Given the description of an element on the screen output the (x, y) to click on. 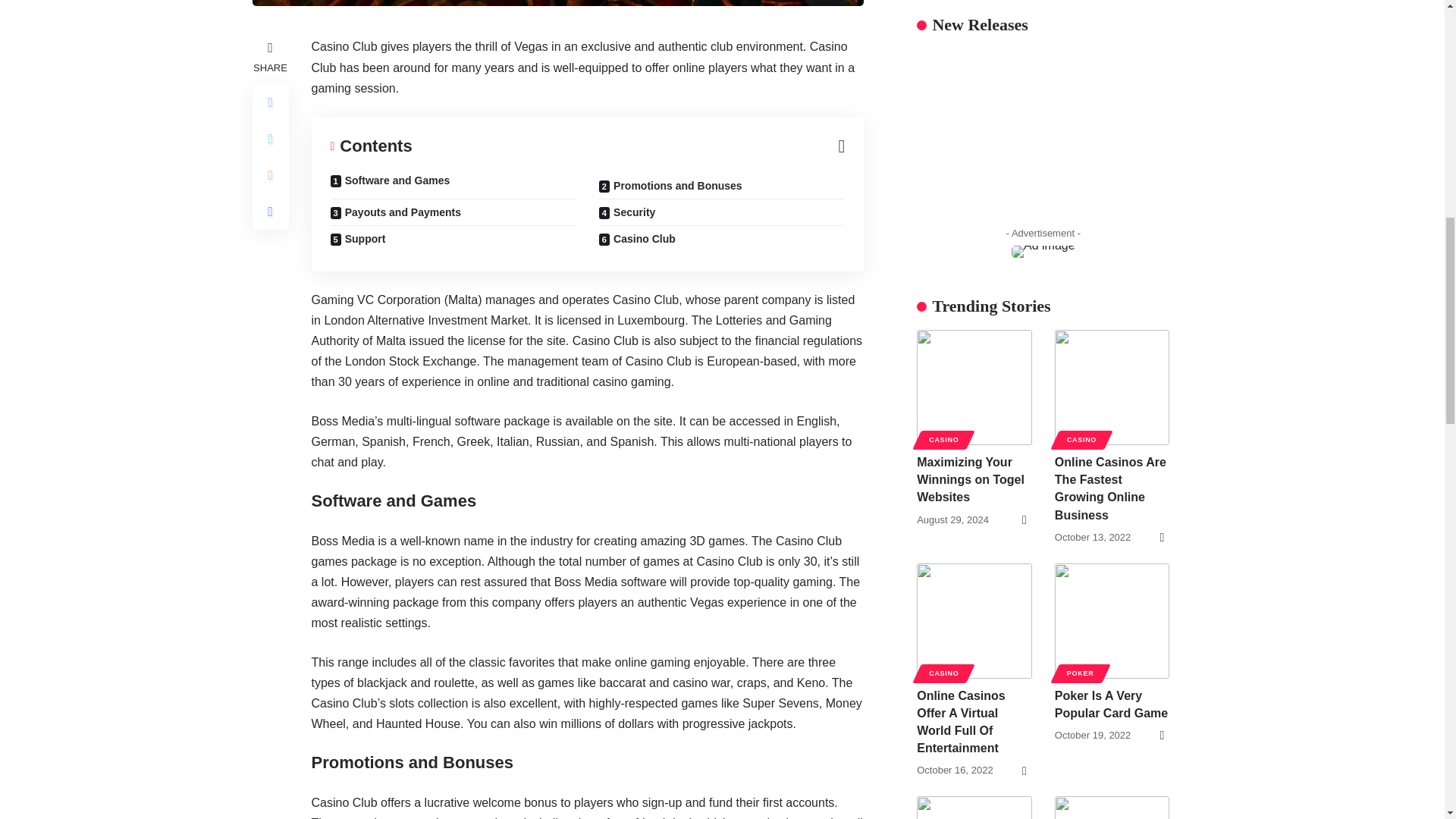
Poker Is A Very Popular Card Game (1112, 210)
Online Casinos Offer A Virtual World Full Of Entertainment (974, 210)
Online Poker Is A Multi Billion Dollar Industry (1112, 443)
Online Casinos Are The Fastest Growing Online Business (1112, 17)
A Human Being Or A Poker Player (974, 443)
Maximizing Your Winnings on Togel Websites (974, 17)
